Given the description of an element on the screen output the (x, y) to click on. 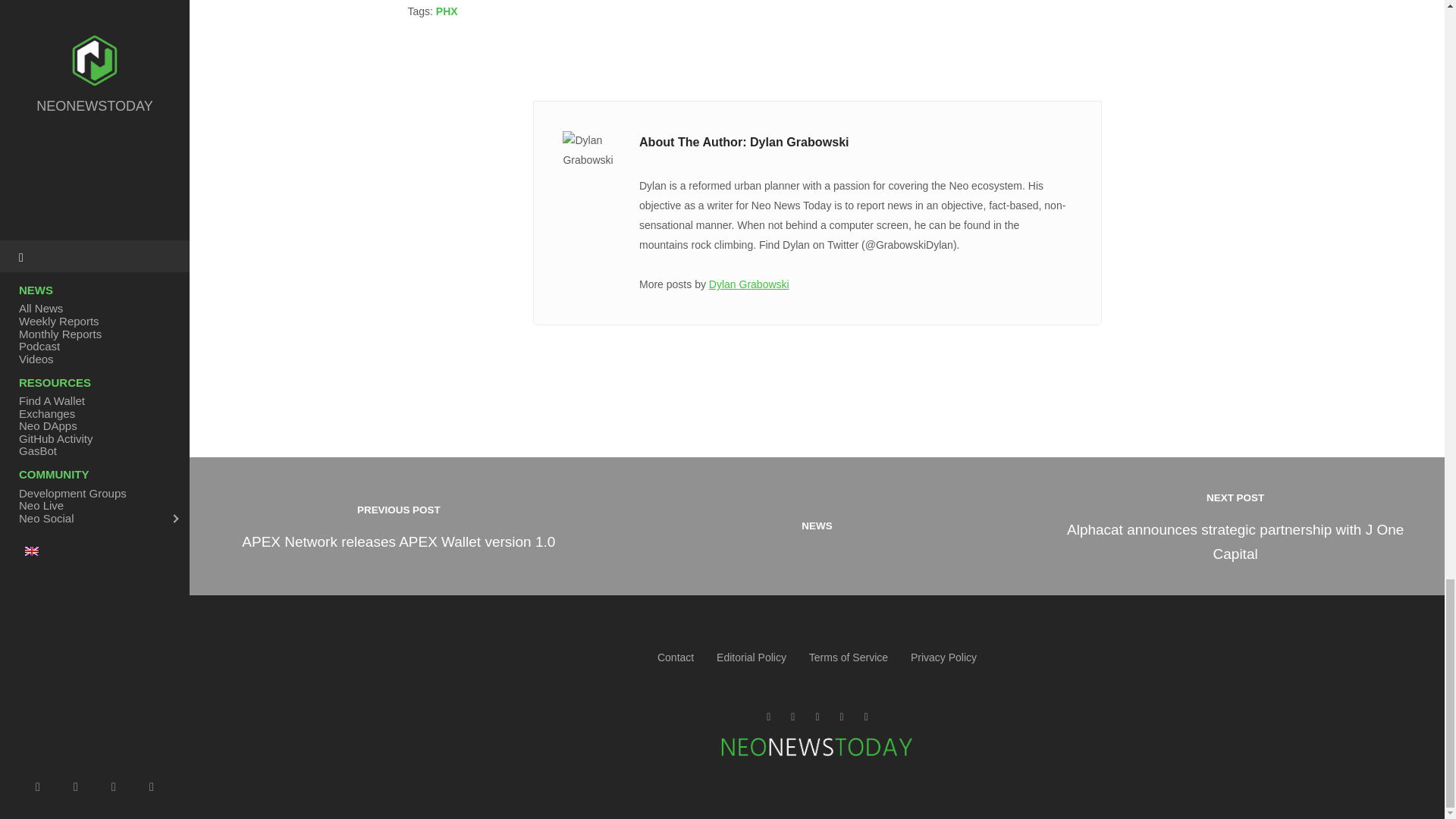
NEWS (817, 526)
PHX (446, 10)
Posts by Dylan Grabowski (398, 526)
Dylan Grabowski (749, 284)
